Given the description of an element on the screen output the (x, y) to click on. 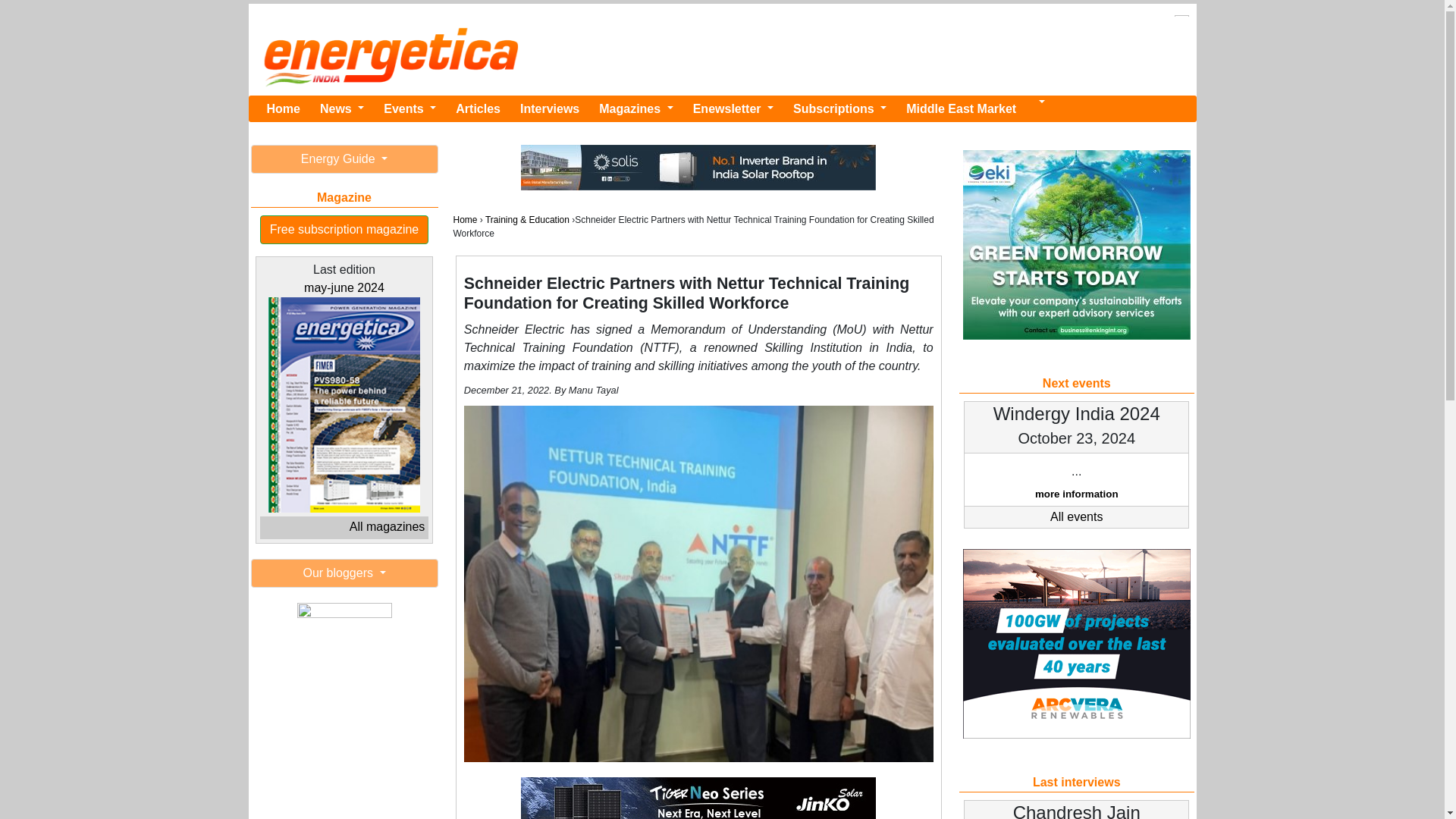
Events (409, 109)
News (341, 109)
Home Energetica India (282, 109)
Home (282, 109)
